Given the description of an element on the screen output the (x, y) to click on. 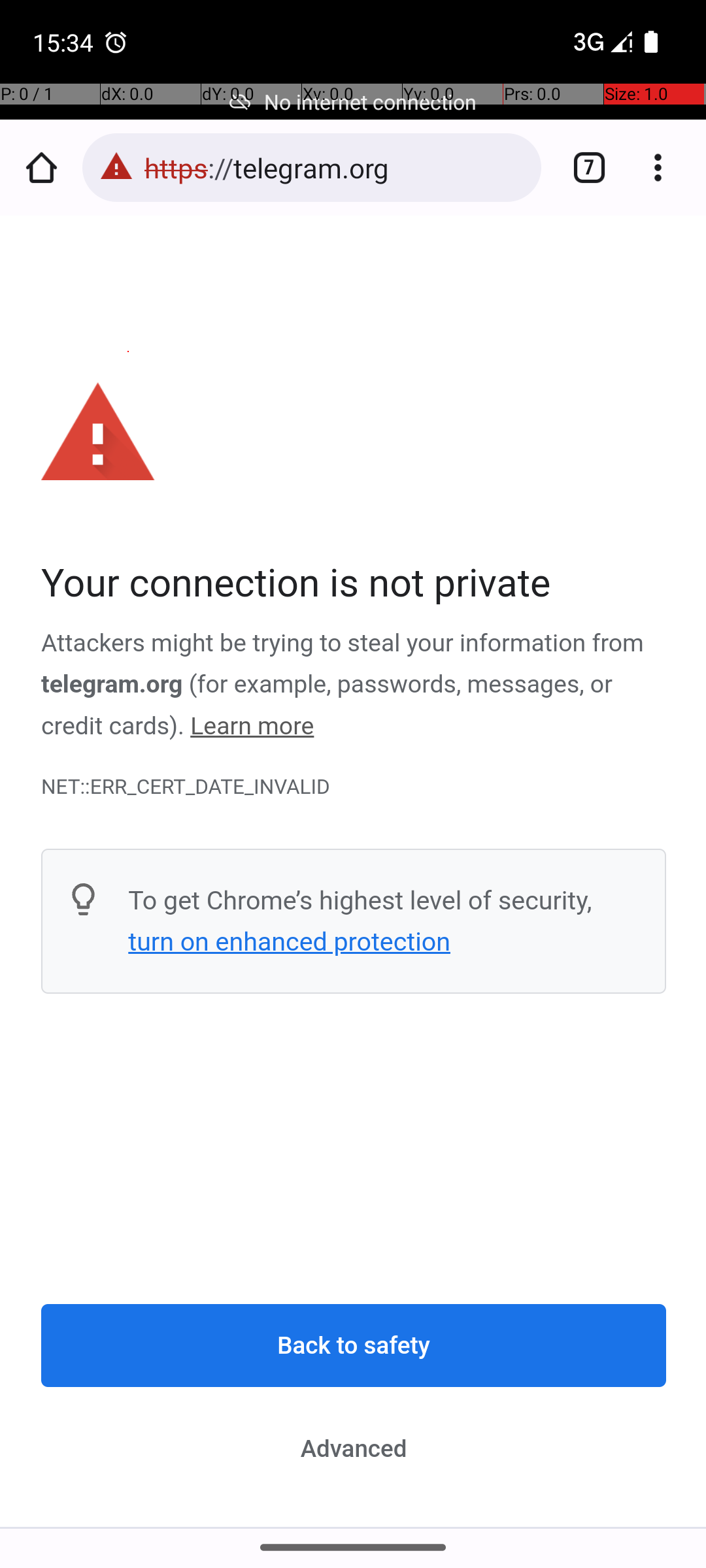
https://telegram.org Element type: android.widget.EditText (335, 167)
telegram.org Element type: android.widget.TextView (112, 684)
